Given the description of an element on the screen output the (x, y) to click on. 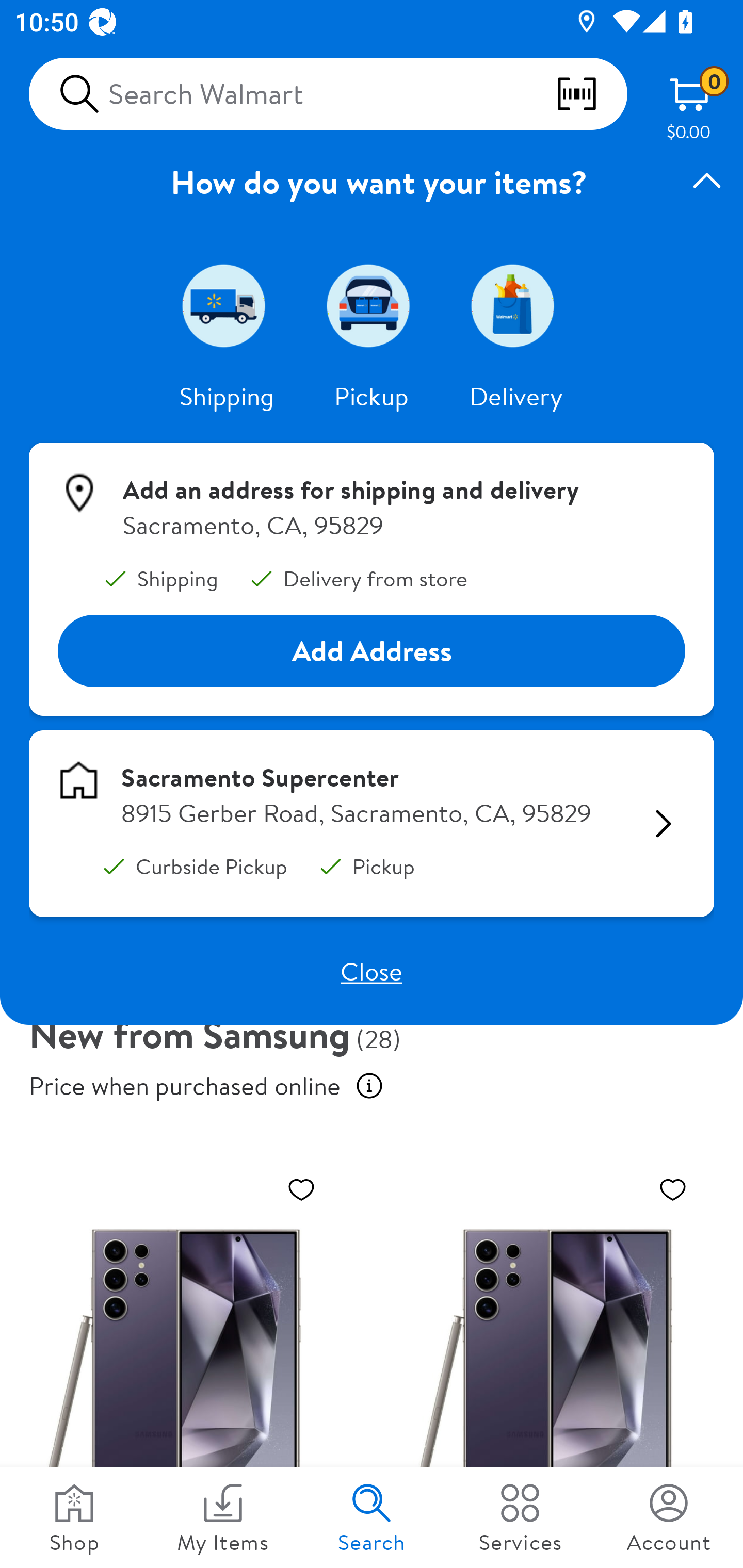
Search Walmart scan barcodes qr codes and more (327, 94)
scan barcodes qr codes and more (591, 94)
How do you want your items? expanded (371, 181)
Shipping 1 of 3 (226, 305)
Pickup 2 of 3 (371, 305)
Delivery 3 of 3 (515, 305)
Add Address (371, 650)
Close (371, 970)
Price when purchased online (184, 1085)
Price when purchased online (369, 1085)
Shop (74, 1517)
My Items (222, 1517)
Services (519, 1517)
Account (668, 1517)
